Given the description of an element on the screen output the (x, y) to click on. 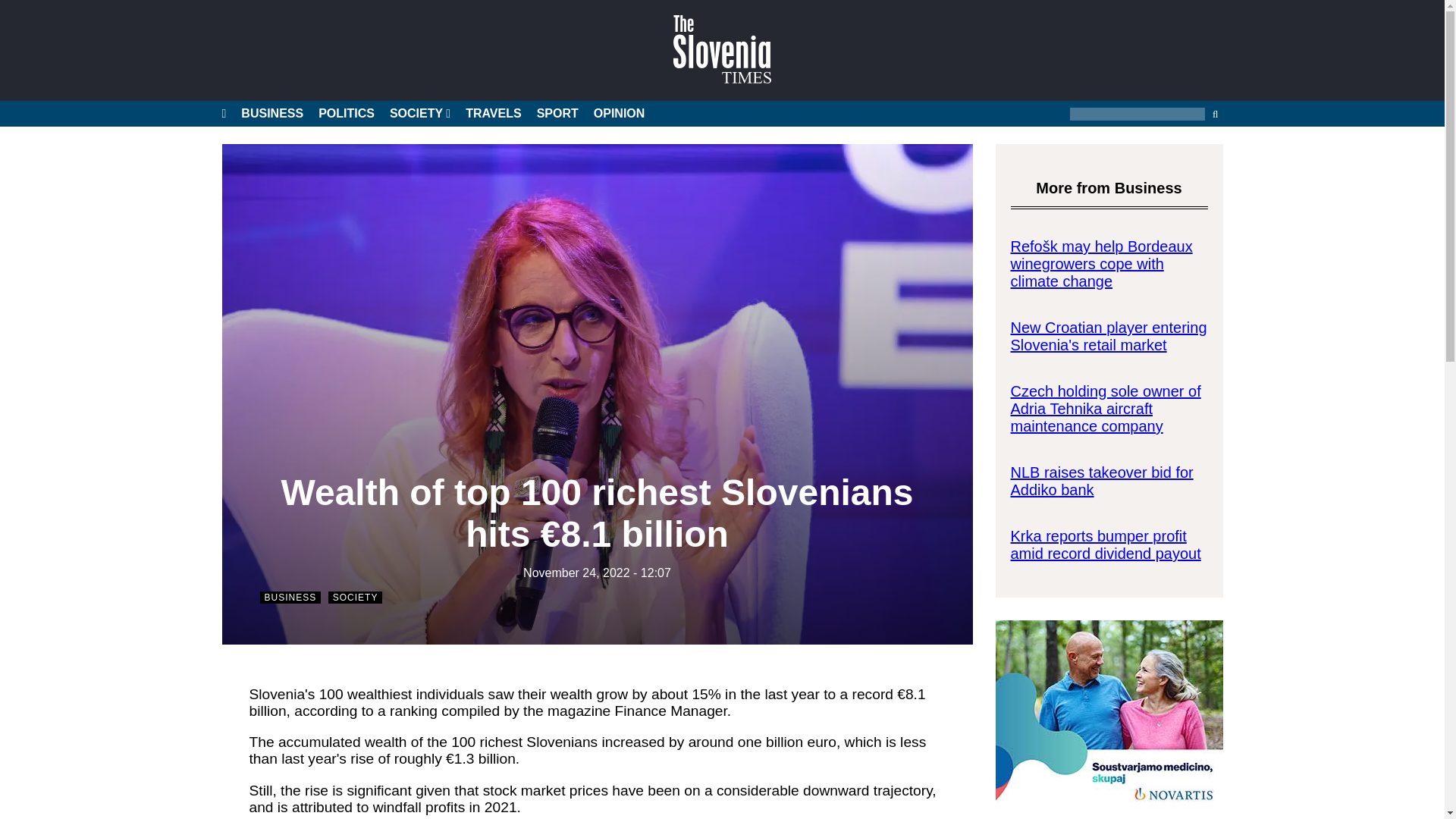
TRAVELS (493, 113)
NLB raises takeover bid for Addiko bank (1101, 480)
SPORT (557, 113)
OPINION (619, 113)
Krka reports bumper profit amid record dividend payout (1104, 544)
BUSINESS (271, 113)
POLITICS (346, 113)
New Croatian player entering Slovenia's retail market (1108, 335)
